Given the description of an element on the screen output the (x, y) to click on. 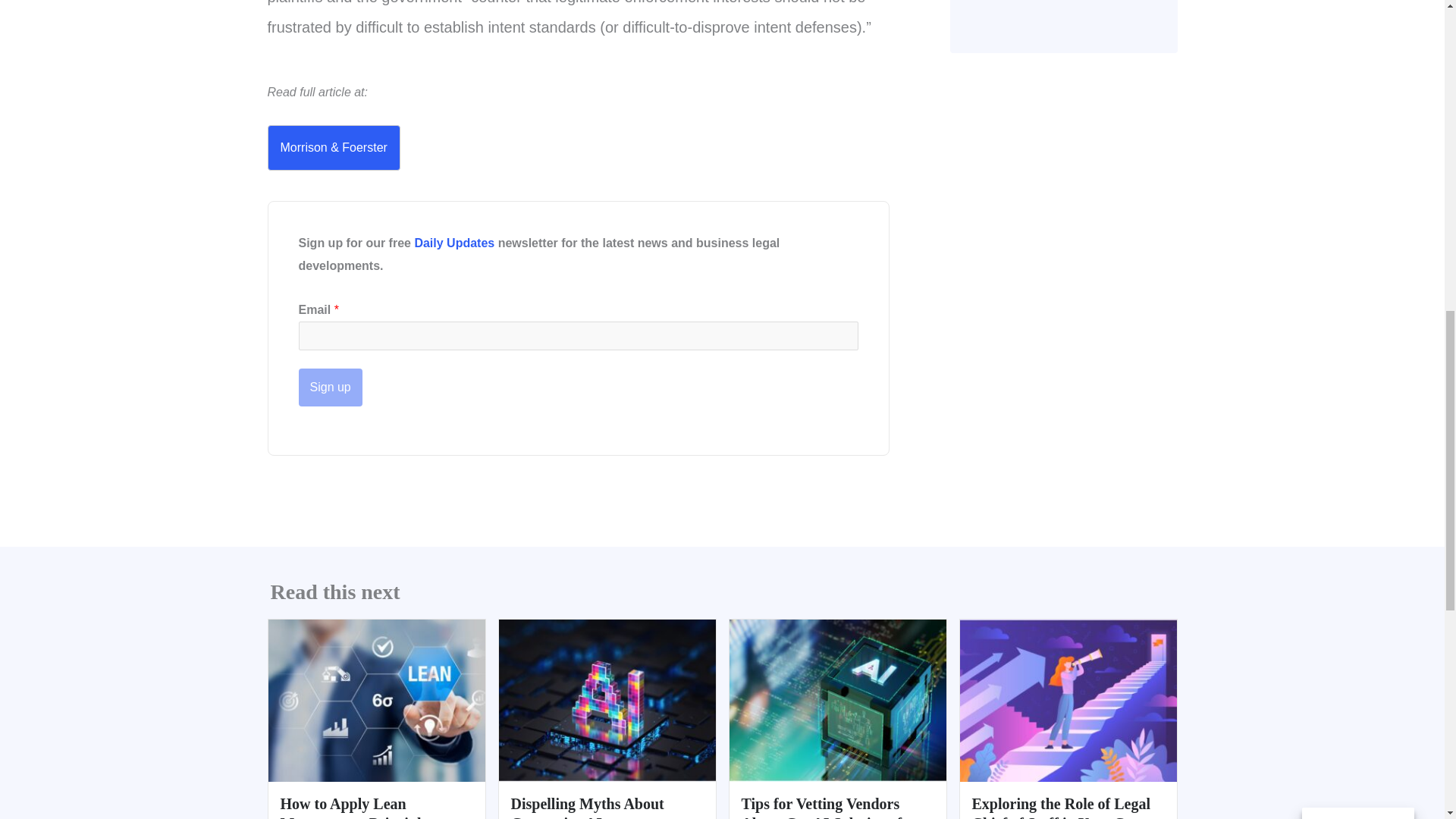
Tips for Vetting Vendors About GenAI Solutions for Legal Ops (828, 807)
Dispelling Myths About Generative AI (607, 698)
Dispelling Myths About Generative AI (587, 807)
Tips for Vetting Vendors About GenAI Solutions for Legal Ops (837, 698)
How to Apply Lean Management Principles to Legal Ops (375, 698)
How to Apply Lean Management Principles to Legal Ops (365, 807)
